Given the description of an element on the screen output the (x, y) to click on. 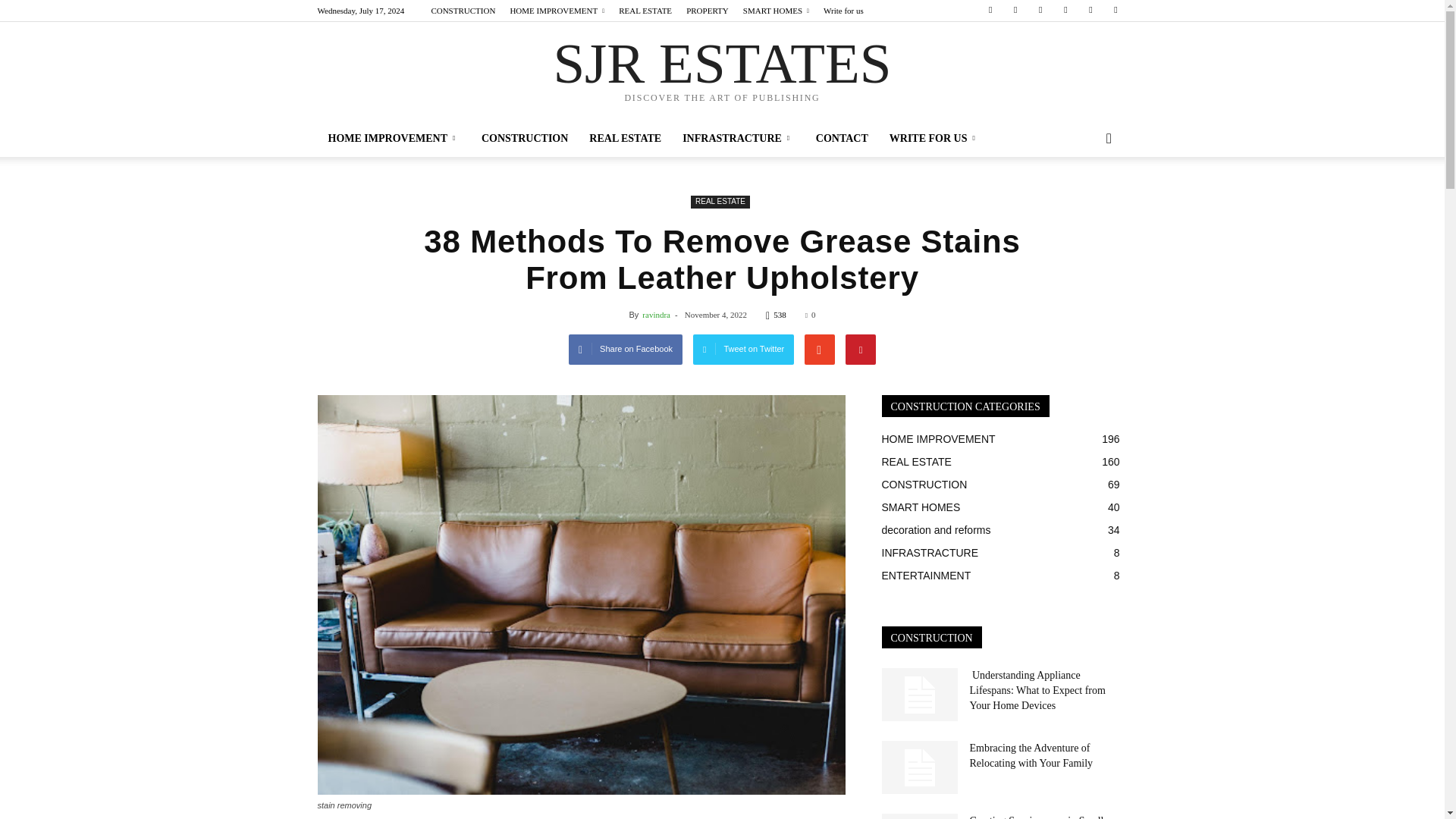
Twitter (1065, 9)
Mail (1040, 9)
CONSTRUCTION (524, 138)
CONSTRUCTION (462, 10)
SJR ESTATES DISCOVER THE ART OF PUBLISHING (721, 72)
REAL ESTATE (644, 10)
Youtube (1114, 9)
Write for us (843, 10)
VKontakte (1090, 9)
Evernote (989, 9)
PROPERTY (707, 10)
HOME IMPROVEMENT (393, 138)
HOME IMPROVEMENT (556, 10)
SMART HOMES (775, 10)
